Given the description of an element on the screen output the (x, y) to click on. 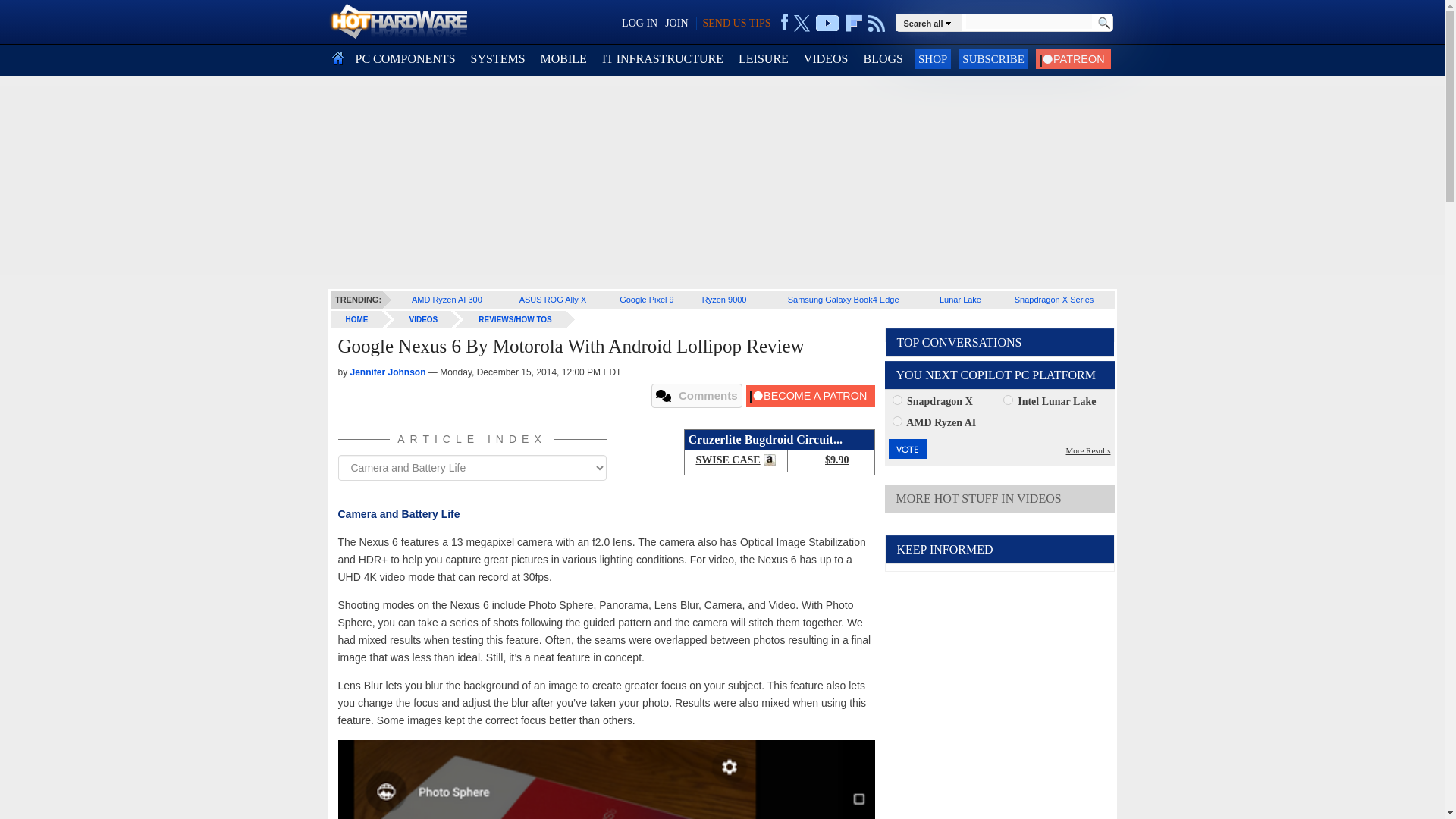
LOG IN (639, 22)
Go (1103, 22)
Search all (929, 22)
Blogs (883, 58)
keyword (1028, 21)
SIGN OUT (39, 18)
Go (1103, 22)
758 (1008, 399)
Comments (696, 395)
PC COMPONENTS (405, 58)
